Given the description of an element on the screen output the (x, y) to click on. 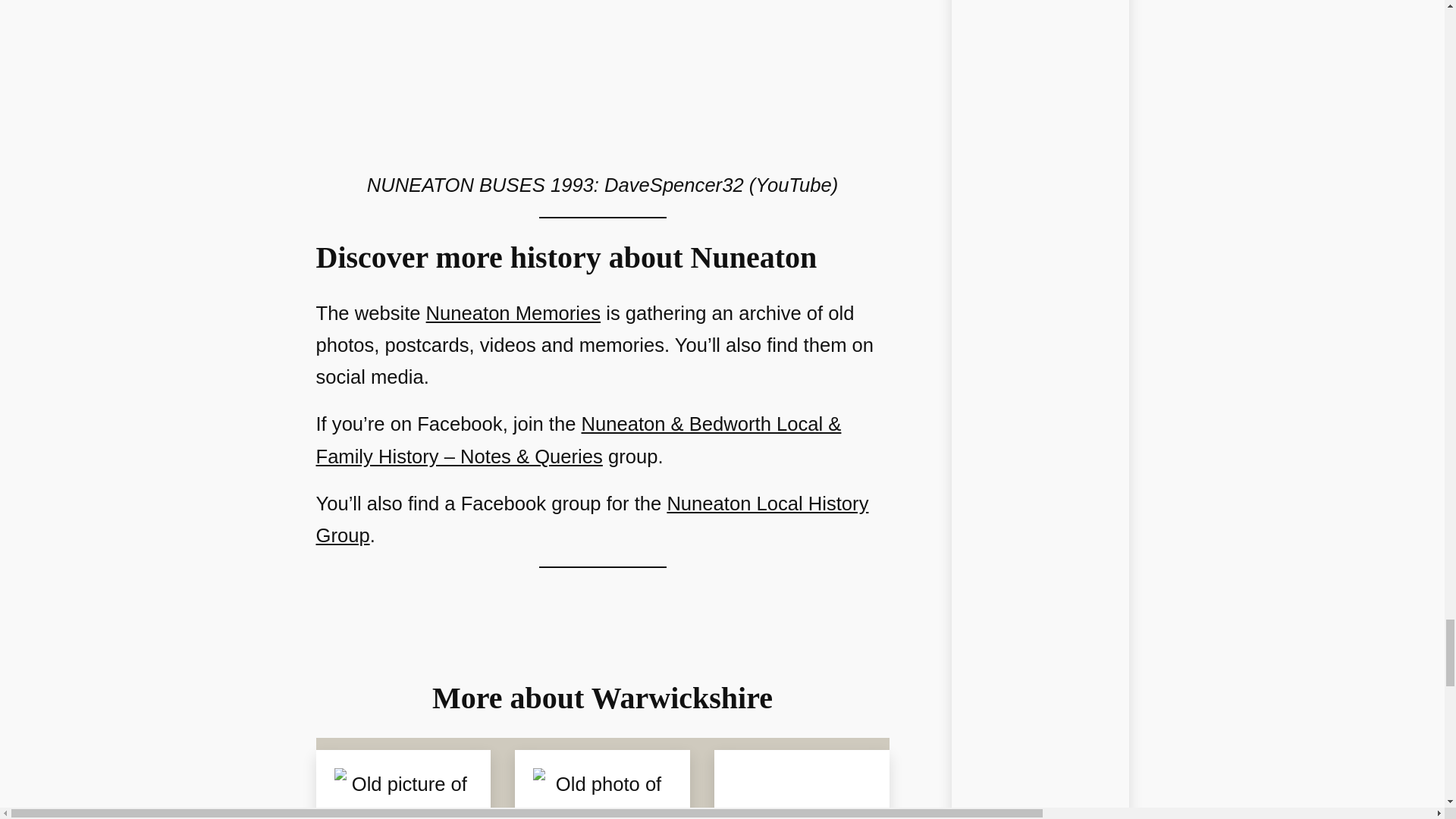
Nuneaton Memories (512, 312)
Nuneaton Local History Group (591, 519)
